Given the description of an element on the screen output the (x, y) to click on. 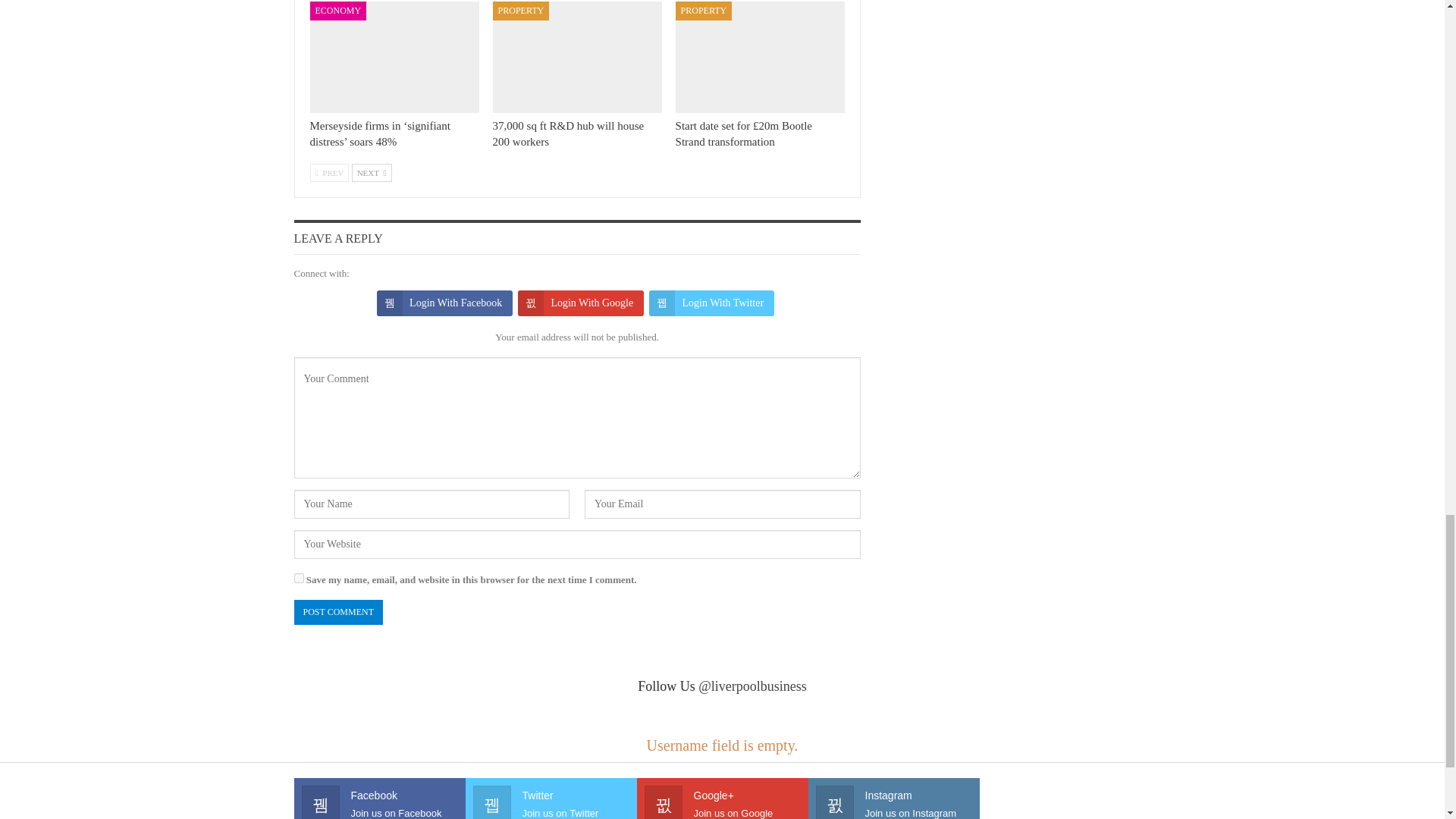
Post Comment (338, 611)
Next (371, 172)
Previous (328, 172)
yes (299, 578)
